Given the description of an element on the screen output the (x, y) to click on. 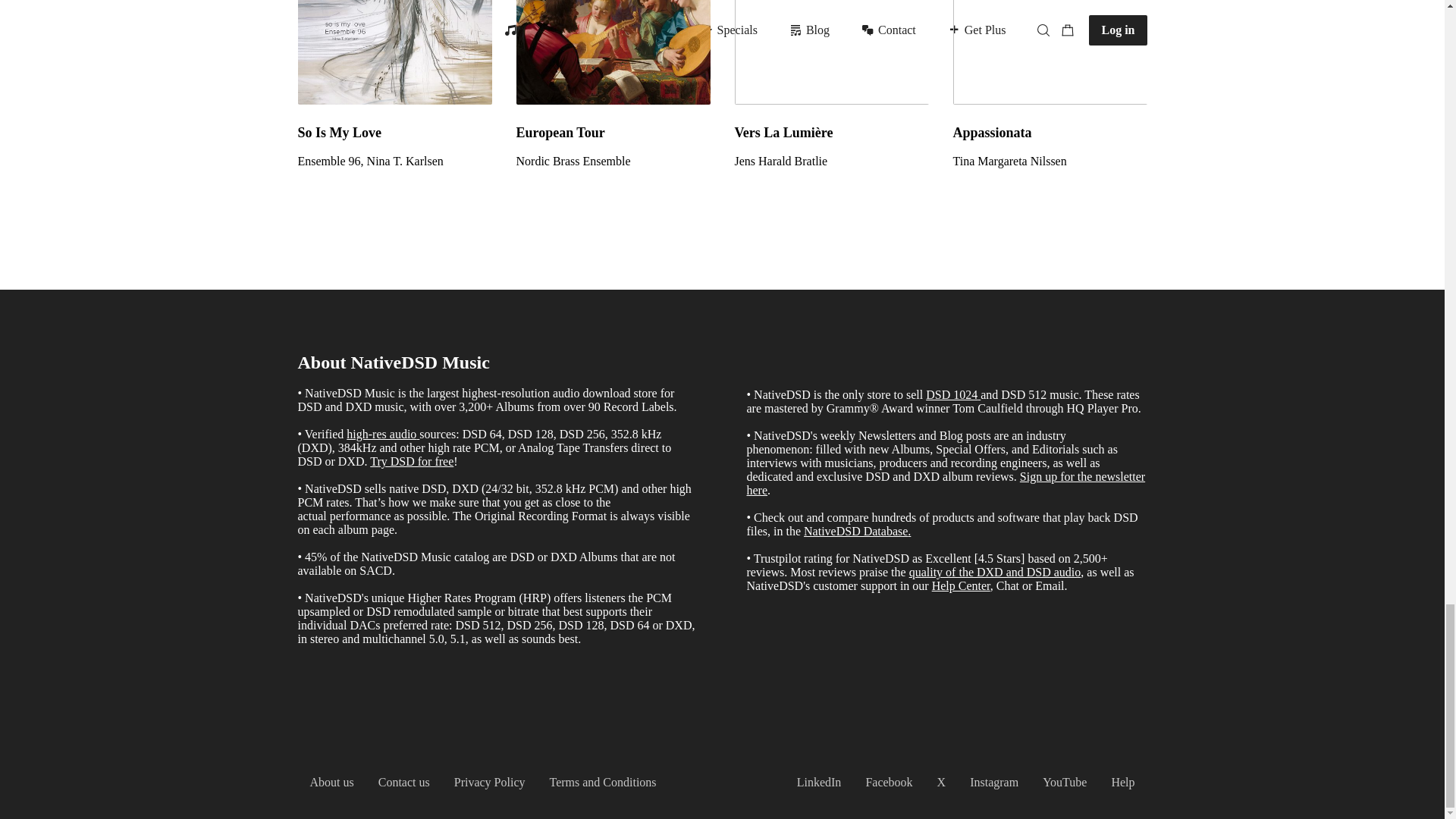
European Tour (612, 132)
European Tour (612, 161)
So Is My Love (394, 132)
Appassionata (1049, 161)
Appassionata (1049, 52)
European Tour (612, 52)
So Is My Love (394, 161)
Appassionata (1049, 132)
So Is My Love (394, 52)
